Given the description of an element on the screen output the (x, y) to click on. 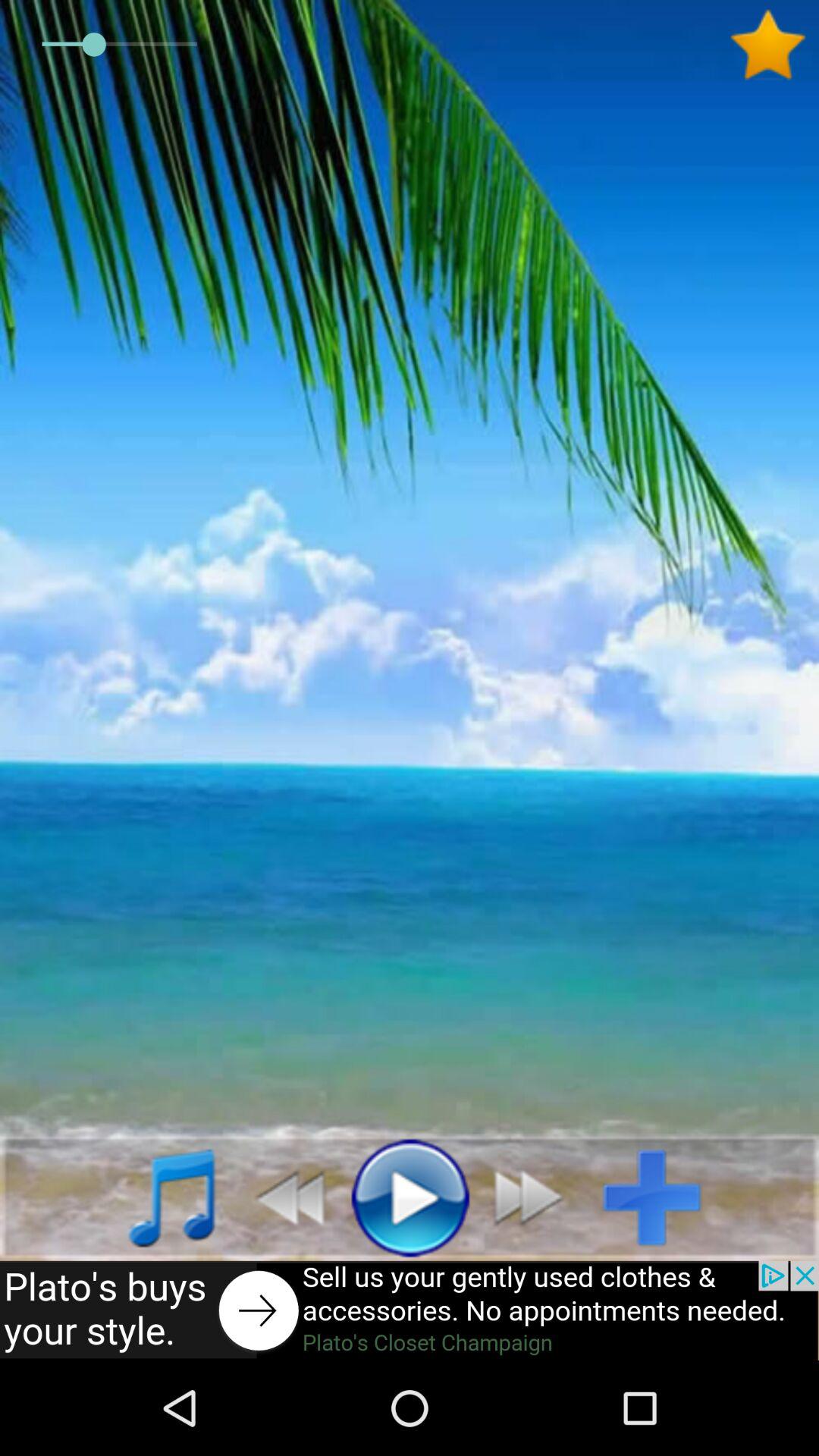
click the music option to hear songs (154, 1196)
